Given the description of an element on the screen output the (x, y) to click on. 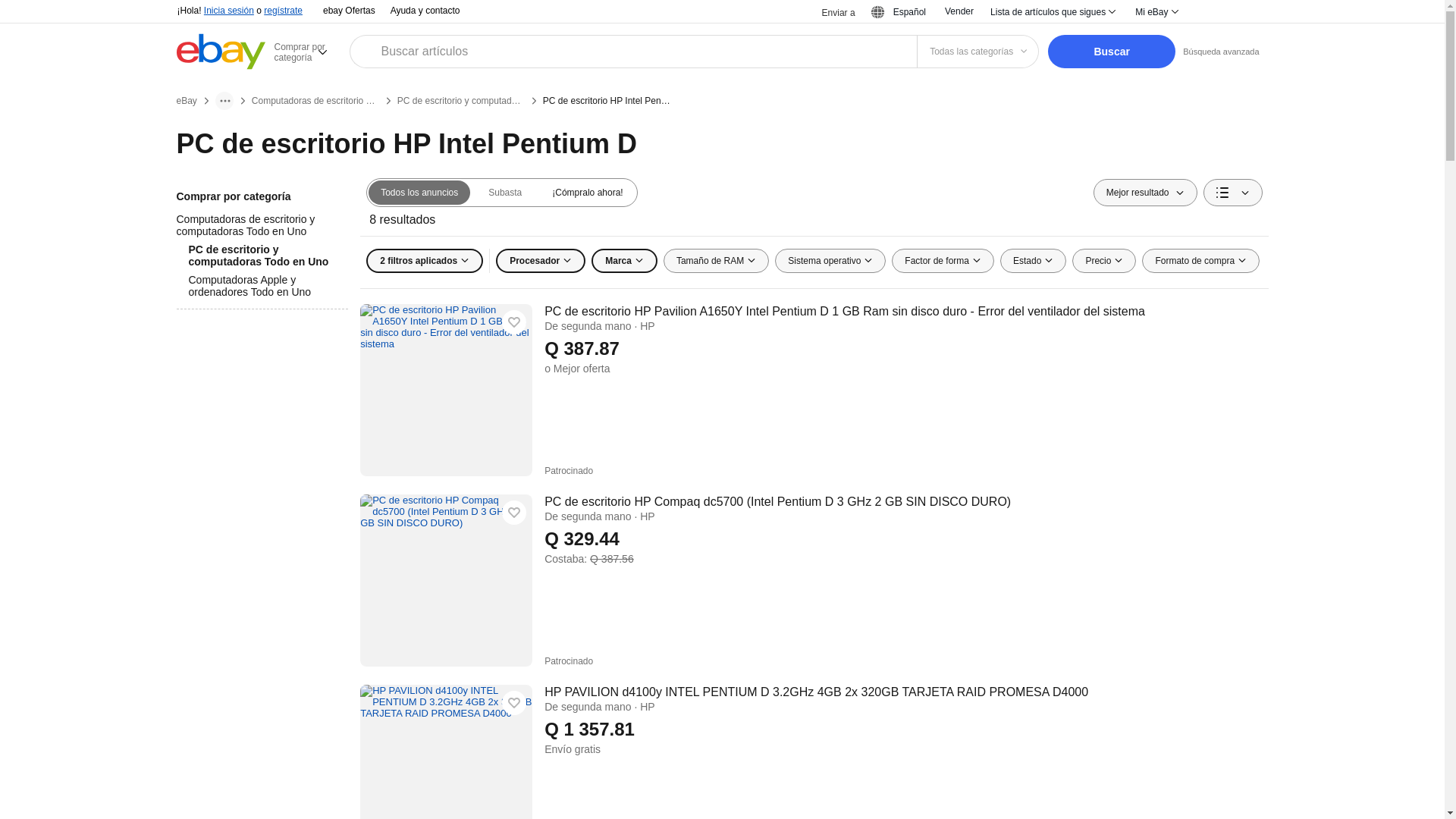
Notifications (1208, 11)
Enviar a (828, 11)
Mi eBay (1155, 12)
Buscar (1111, 51)
